Given the description of an element on the screen output the (x, y) to click on. 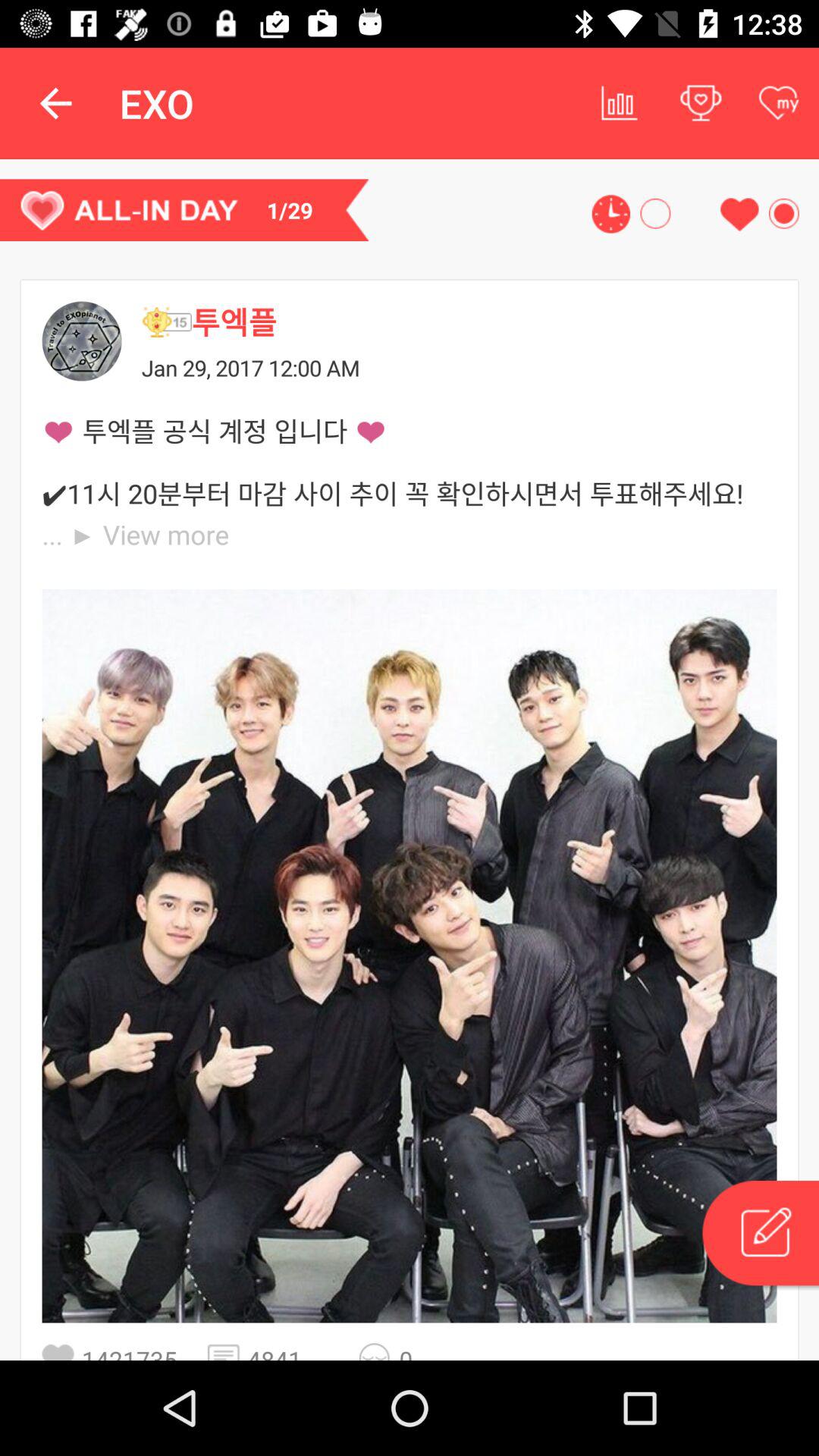
turn on 1/29 (184, 210)
